Given the description of an element on the screen output the (x, y) to click on. 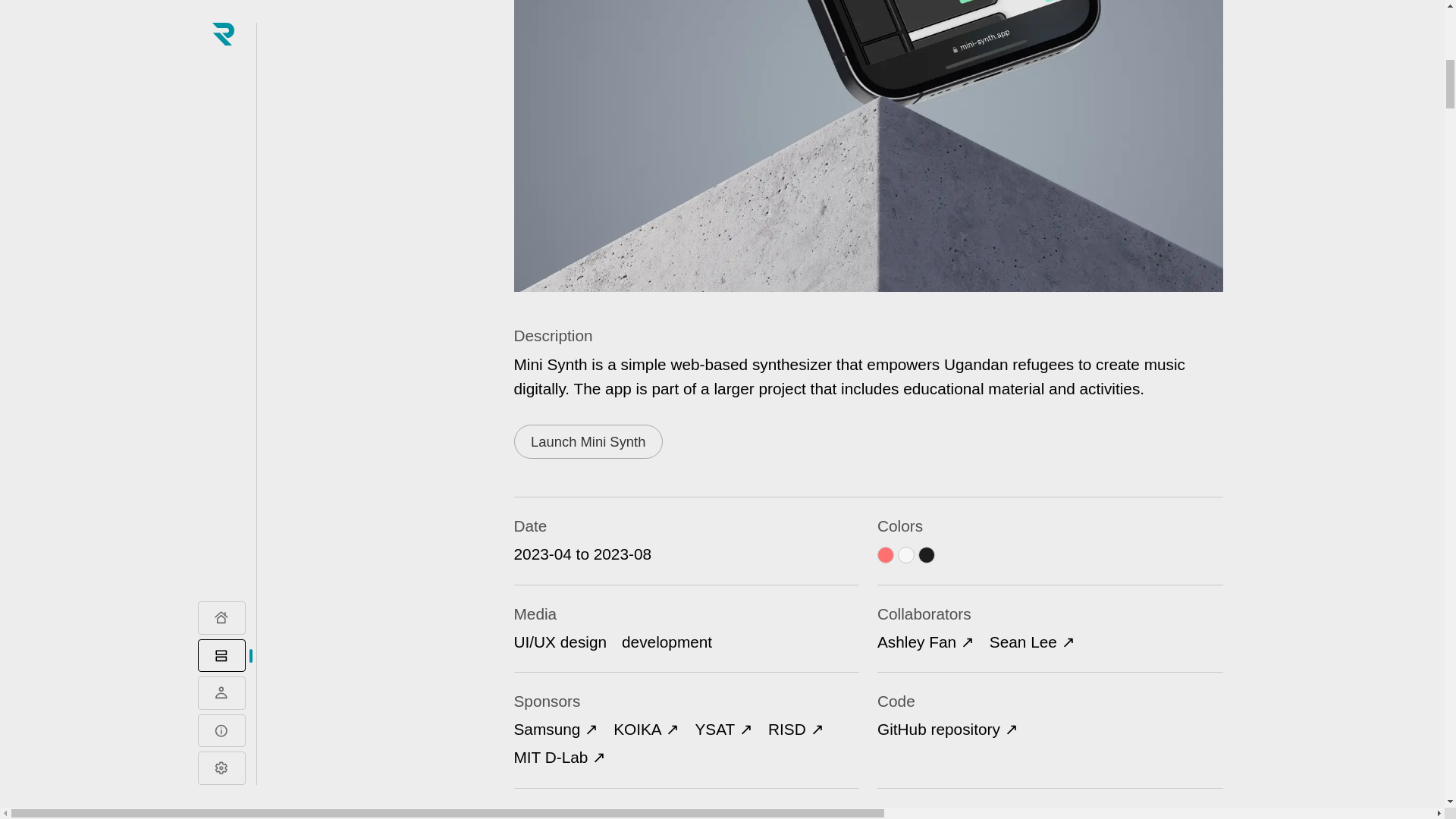
KOIKA (645, 728)
Launch Mini Synth (588, 442)
Samsung (555, 728)
MIT D-Lab (560, 756)
RISD (796, 728)
GitHub repository (947, 728)
YSAT (723, 728)
Ashley Fan (925, 641)
Sean Lee (1032, 641)
